Given the description of an element on the screen output the (x, y) to click on. 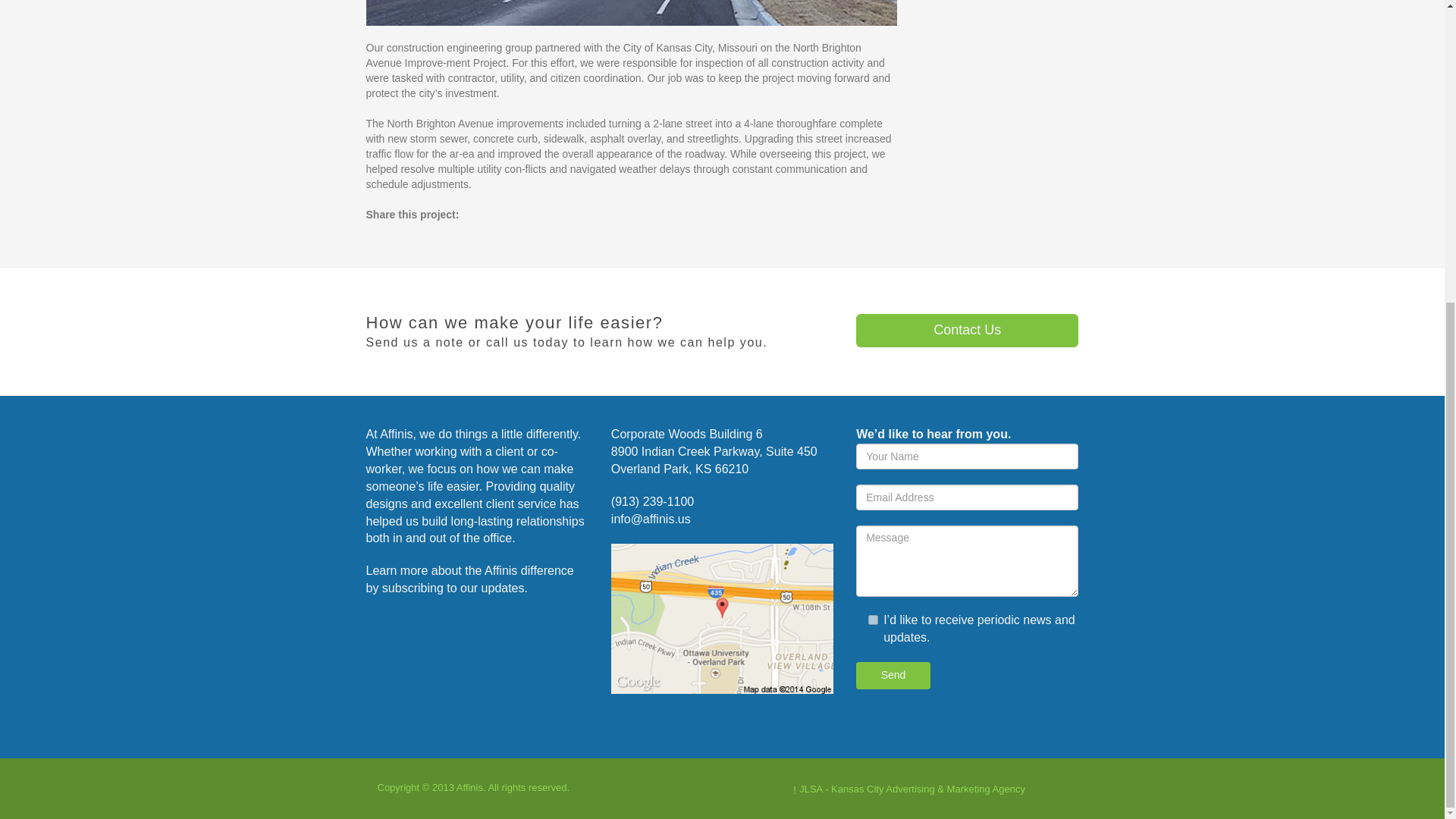
Send (893, 675)
Contact Us (967, 330)
Send (893, 675)
